Given the description of an element on the screen output the (x, y) to click on. 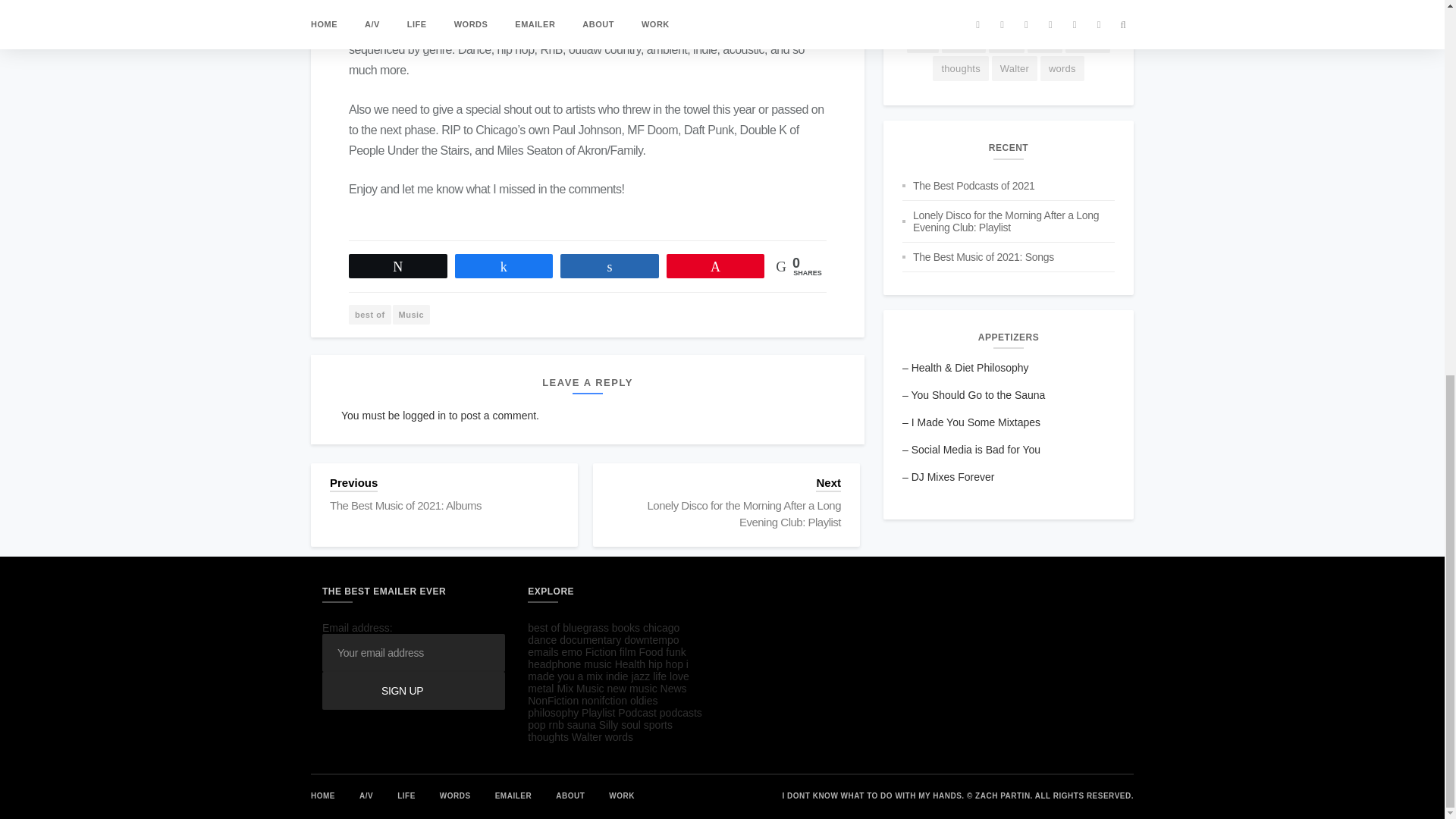
Sign up (413, 690)
